Given the description of an element on the screen output the (x, y) to click on. 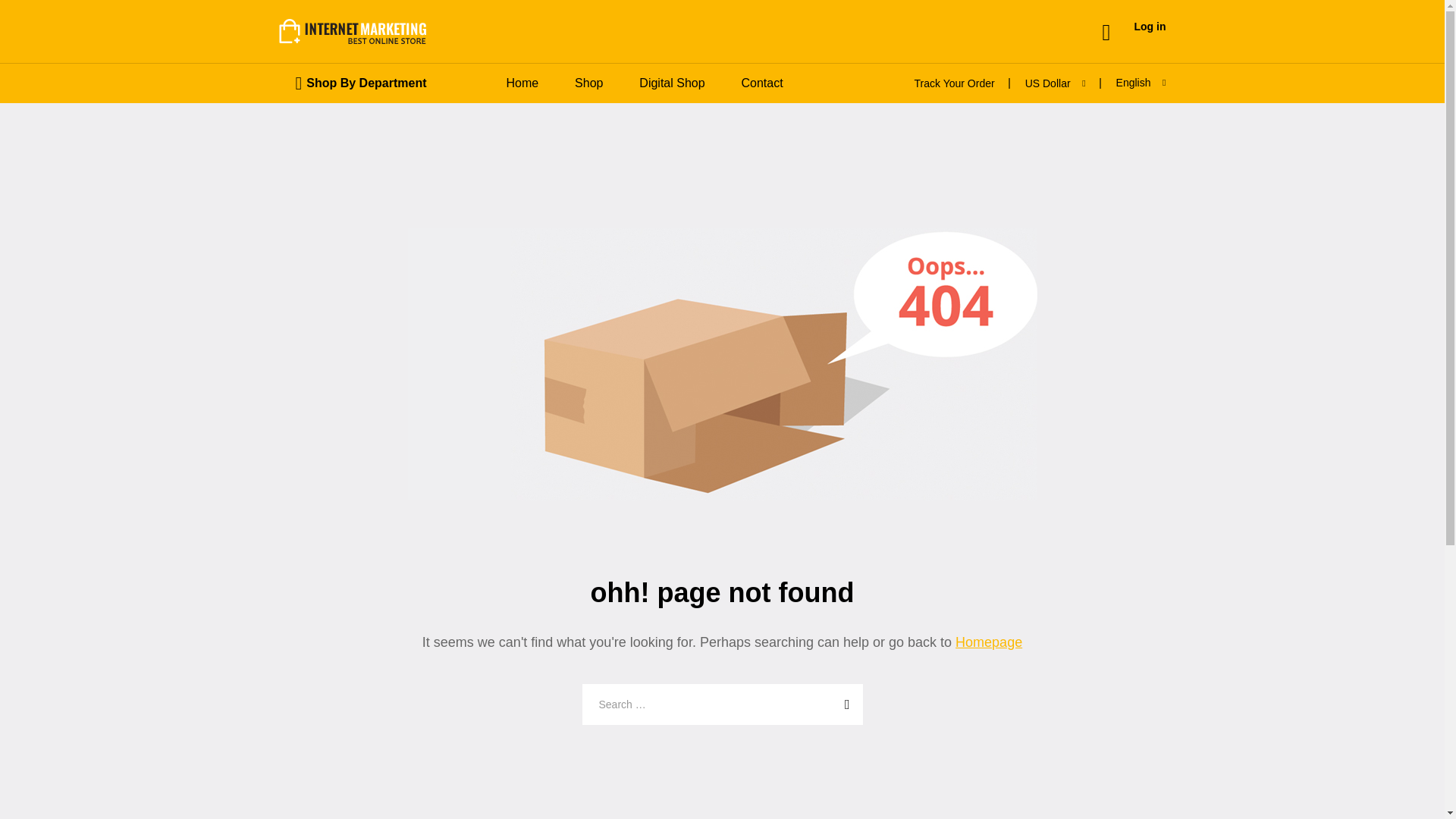
Home (522, 82)
English (1141, 81)
Digital Shop (671, 82)
Search (843, 704)
Shop (588, 82)
Log in (1134, 25)
Track Your Order (954, 82)
Search (843, 704)
US Dollar (1092, 126)
US English (1183, 125)
Contact (762, 82)
